Given the description of an element on the screen output the (x, y) to click on. 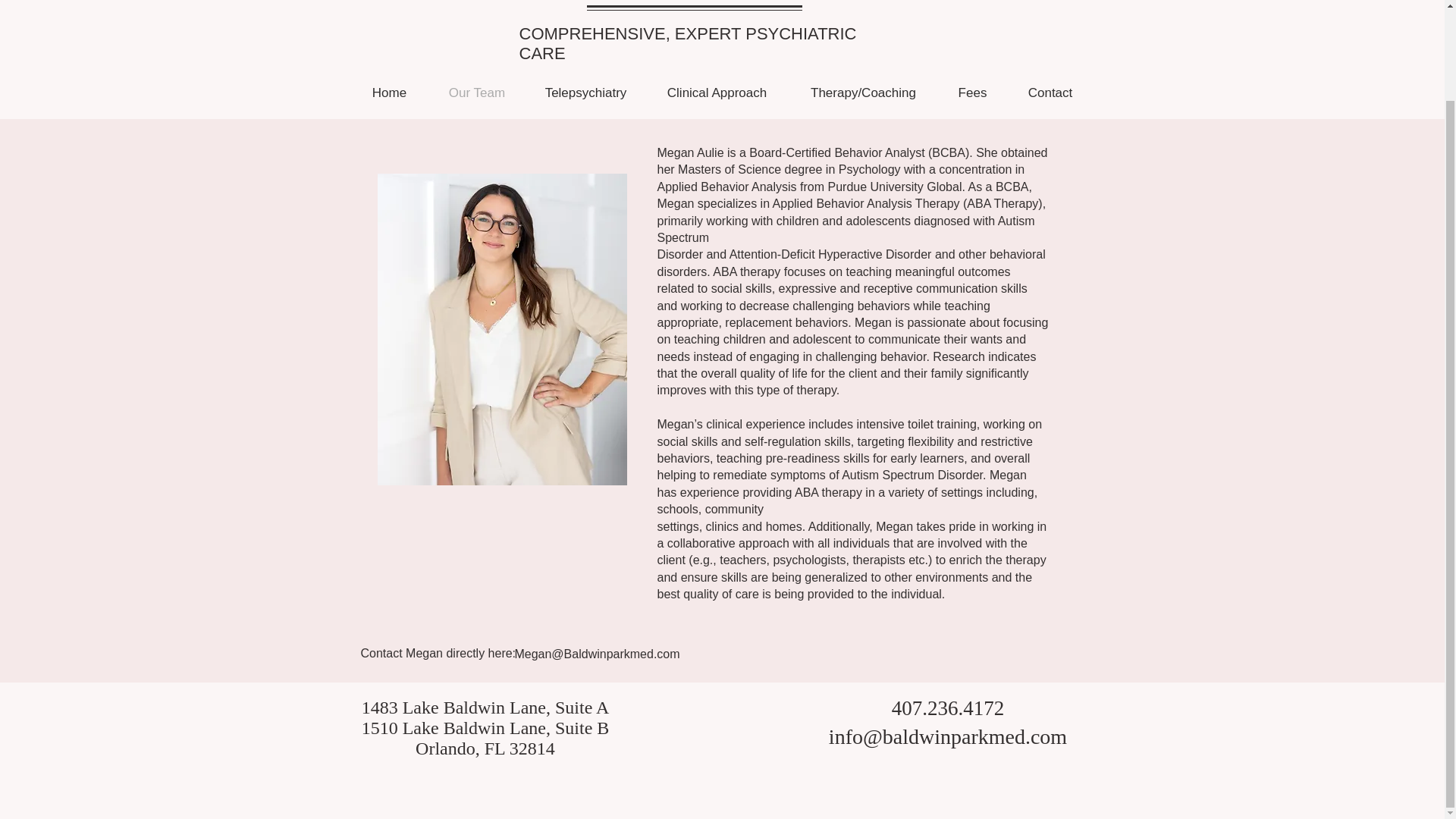
407.236.4172 (947, 708)
Fees (973, 92)
Contact (1050, 92)
Telepsychiatry (585, 92)
Our Team (476, 92)
Home (389, 92)
